Given the description of an element on the screen output the (x, y) to click on. 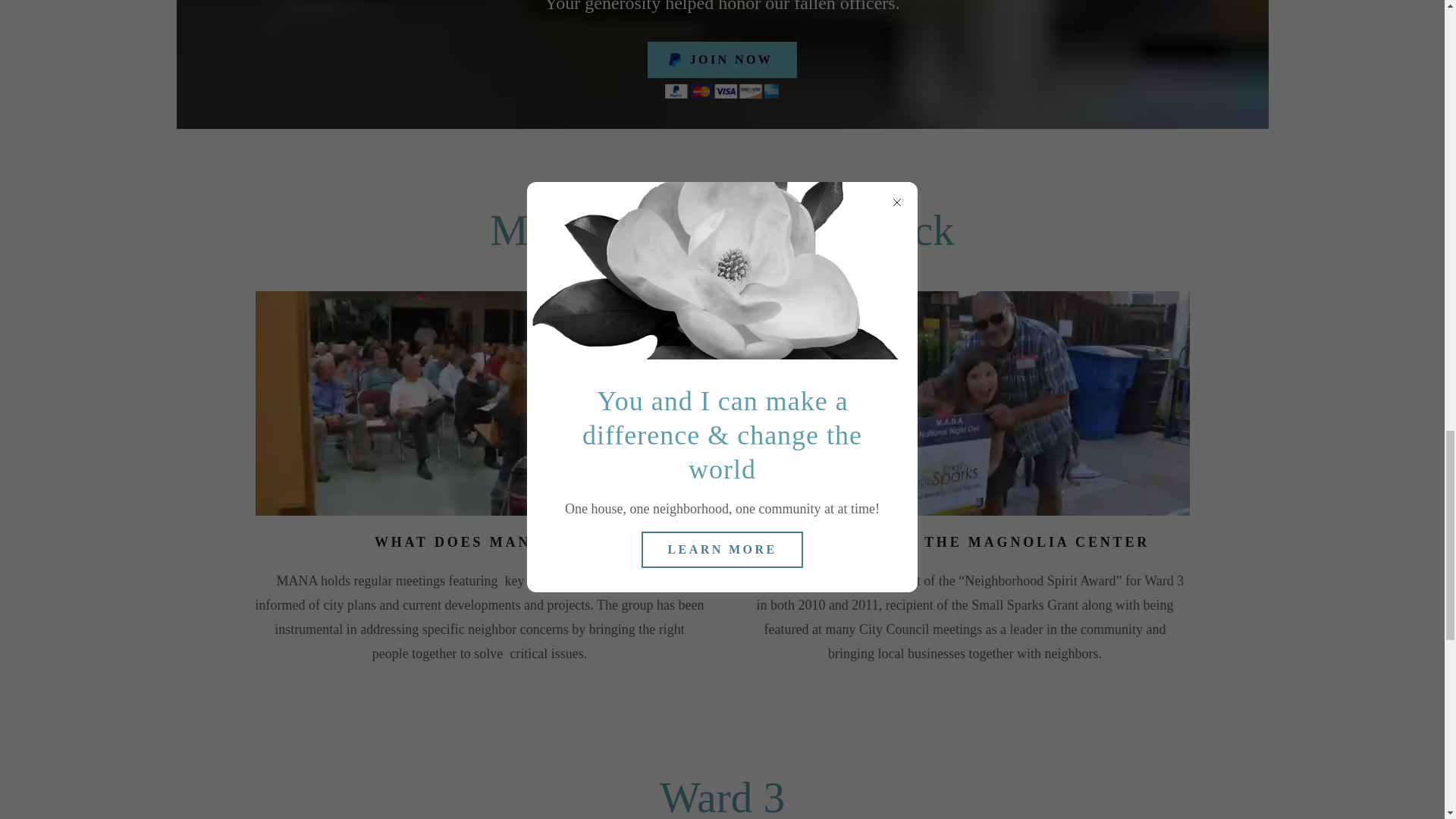
JOIN NOW (722, 59)
